Given the description of an element on the screen output the (x, y) to click on. 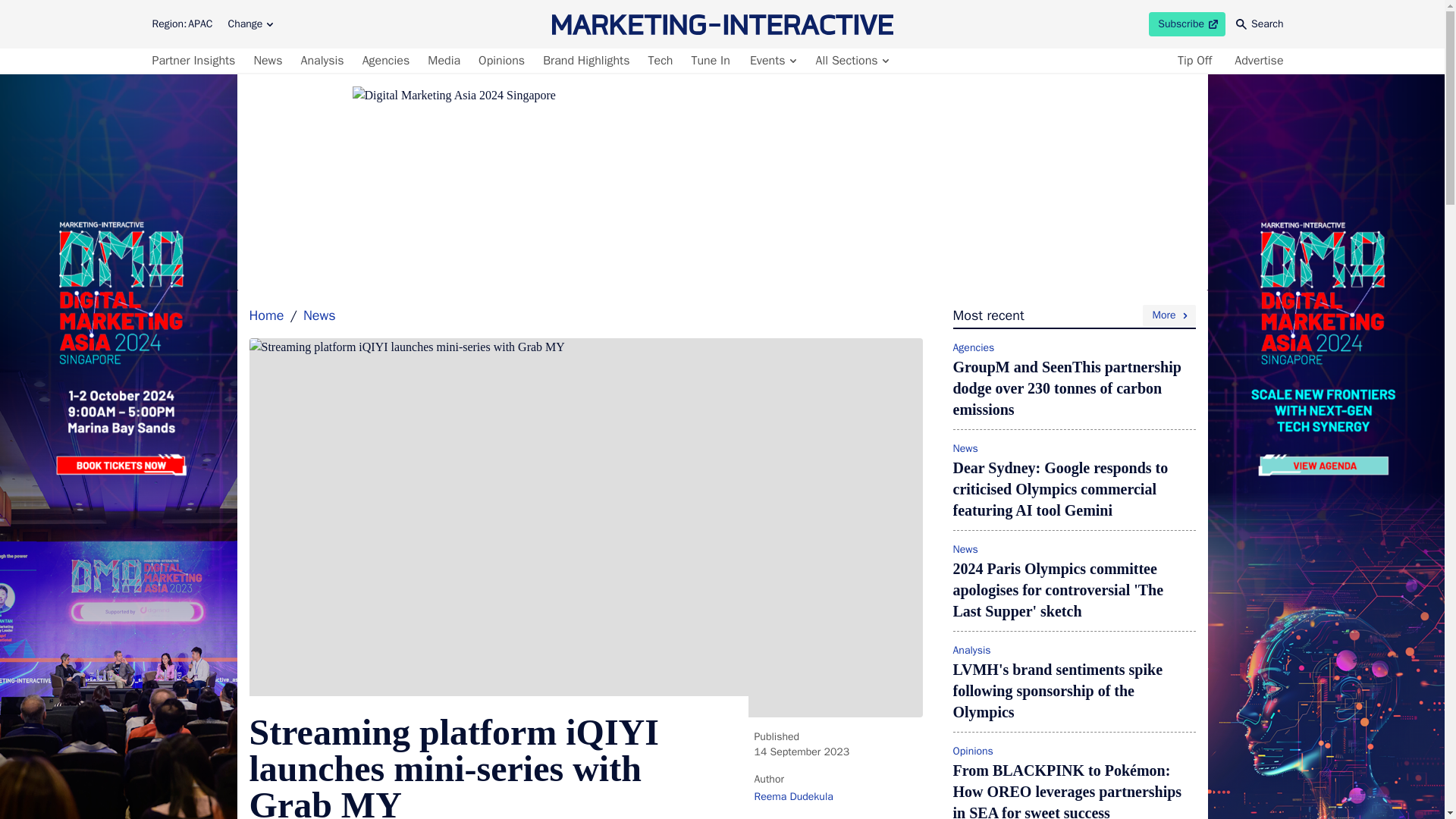
Opinions (501, 60)
Search (1260, 24)
Brand Highlights (585, 60)
Events (772, 60)
Tune In (709, 60)
Agencies (386, 60)
Analysis (321, 60)
All Sections (851, 60)
Partner Insights (1186, 24)
Change (195, 60)
Tech (250, 24)
Digital Marketing Asia 2024 Singapore (660, 60)
News (443, 60)
